Given the description of an element on the screen output the (x, y) to click on. 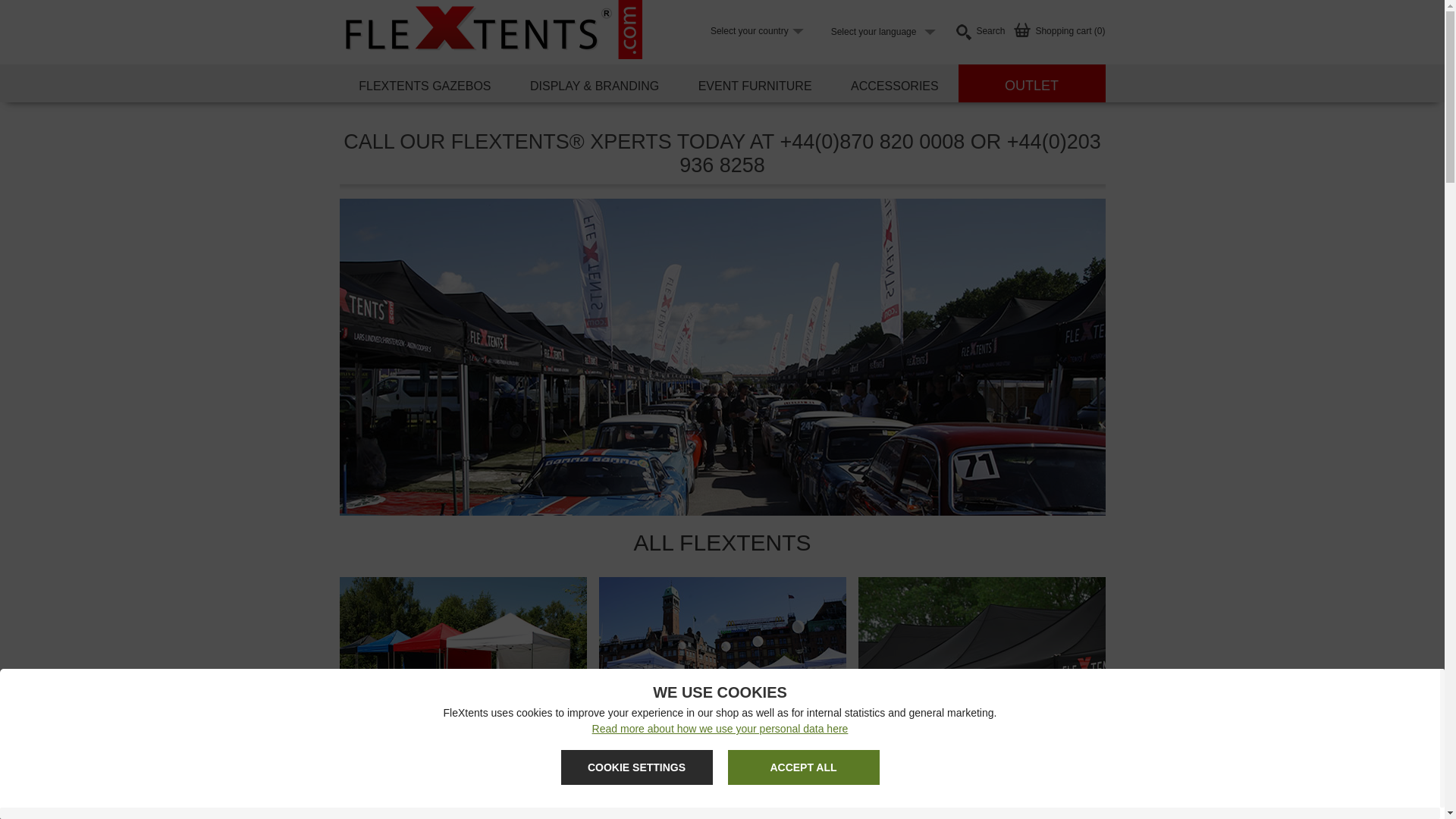
Opens a widget where you can chat to one of our agents (1218, 792)
